Given the description of an element on the screen output the (x, y) to click on. 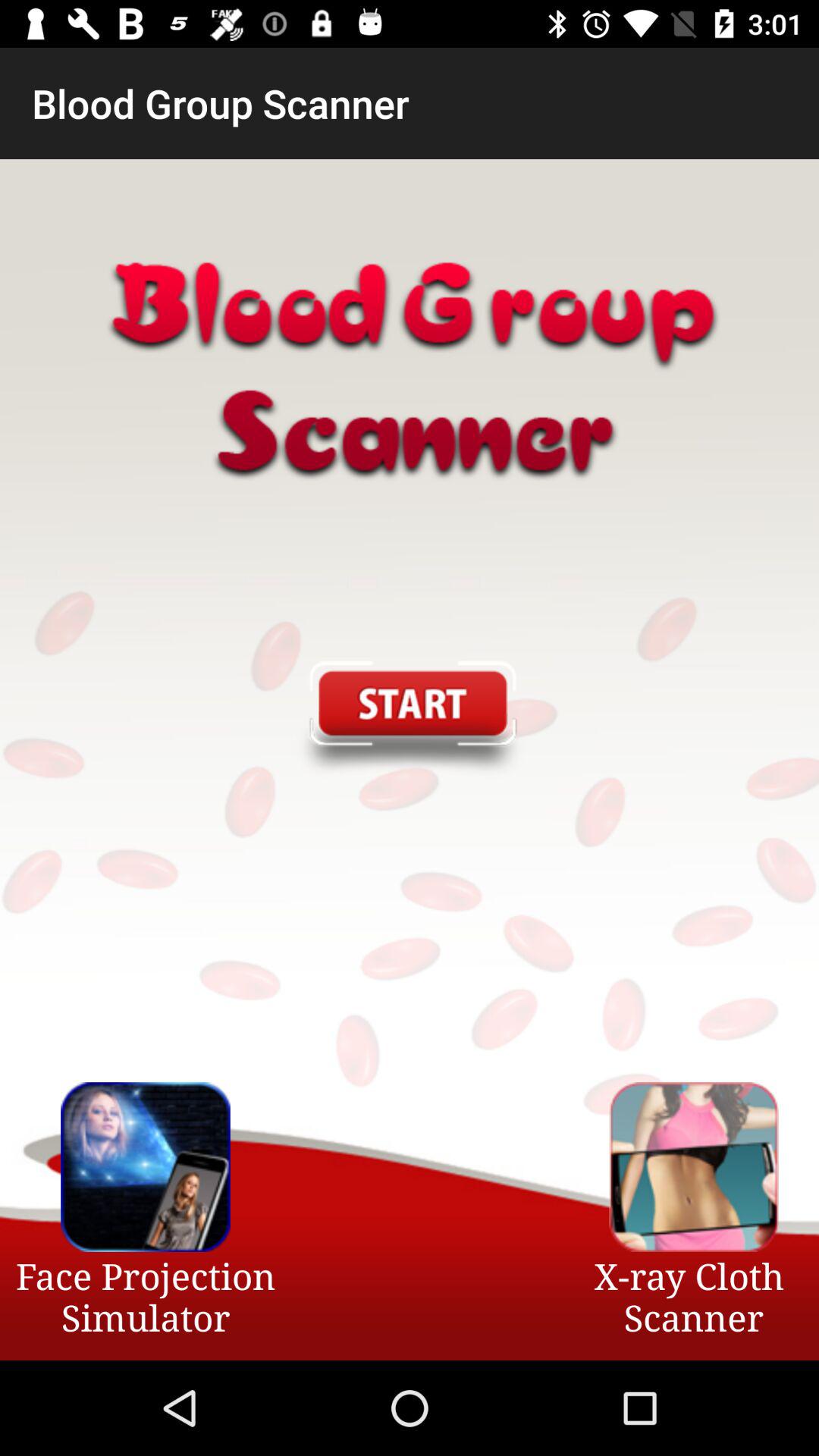
open the item below the blood group scanner (409, 719)
